Given the description of an element on the screen output the (x, y) to click on. 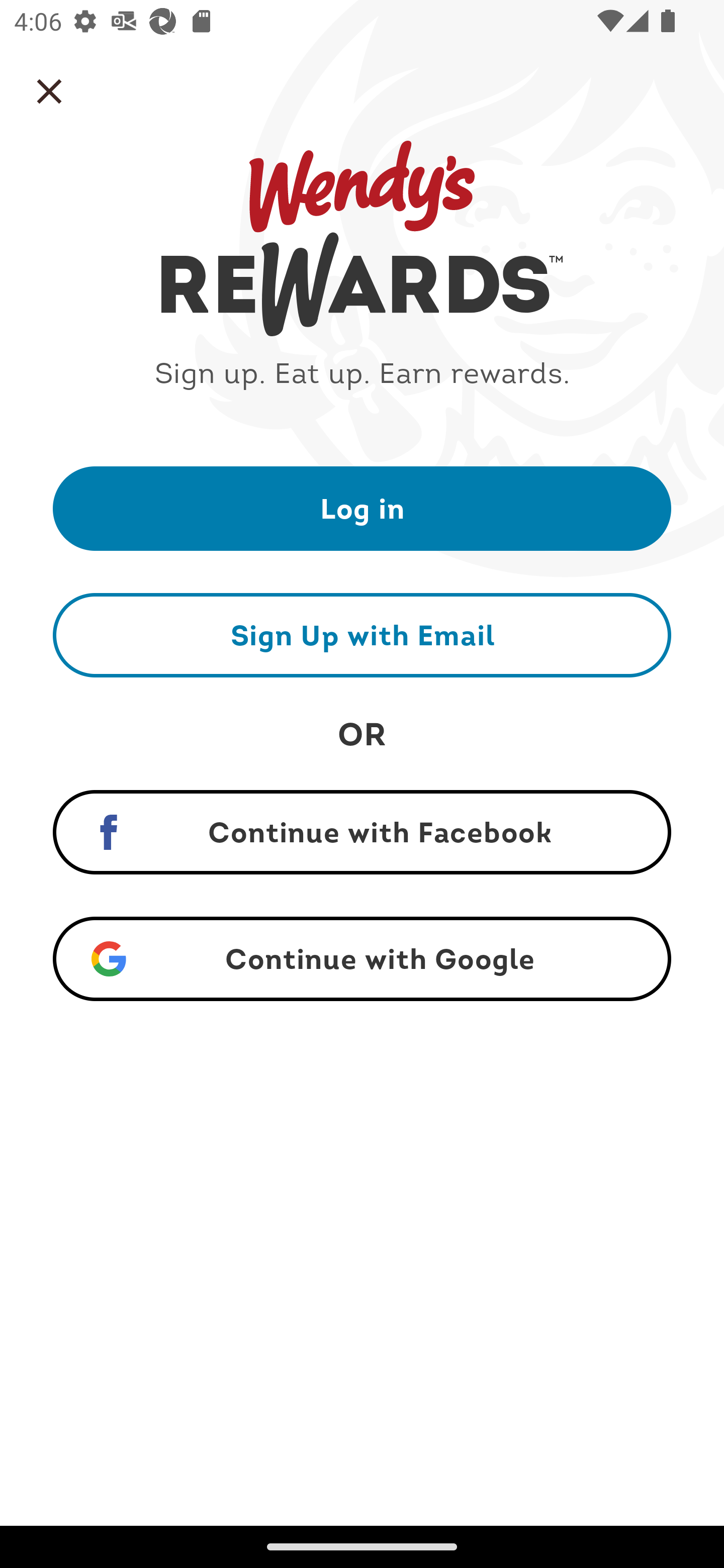
close (49, 91)
Log in (361, 507)
Sign Up with Email (361, 634)
Continue with Facebook (361, 832)
Continue with Google (361, 958)
